Given the description of an element on the screen output the (x, y) to click on. 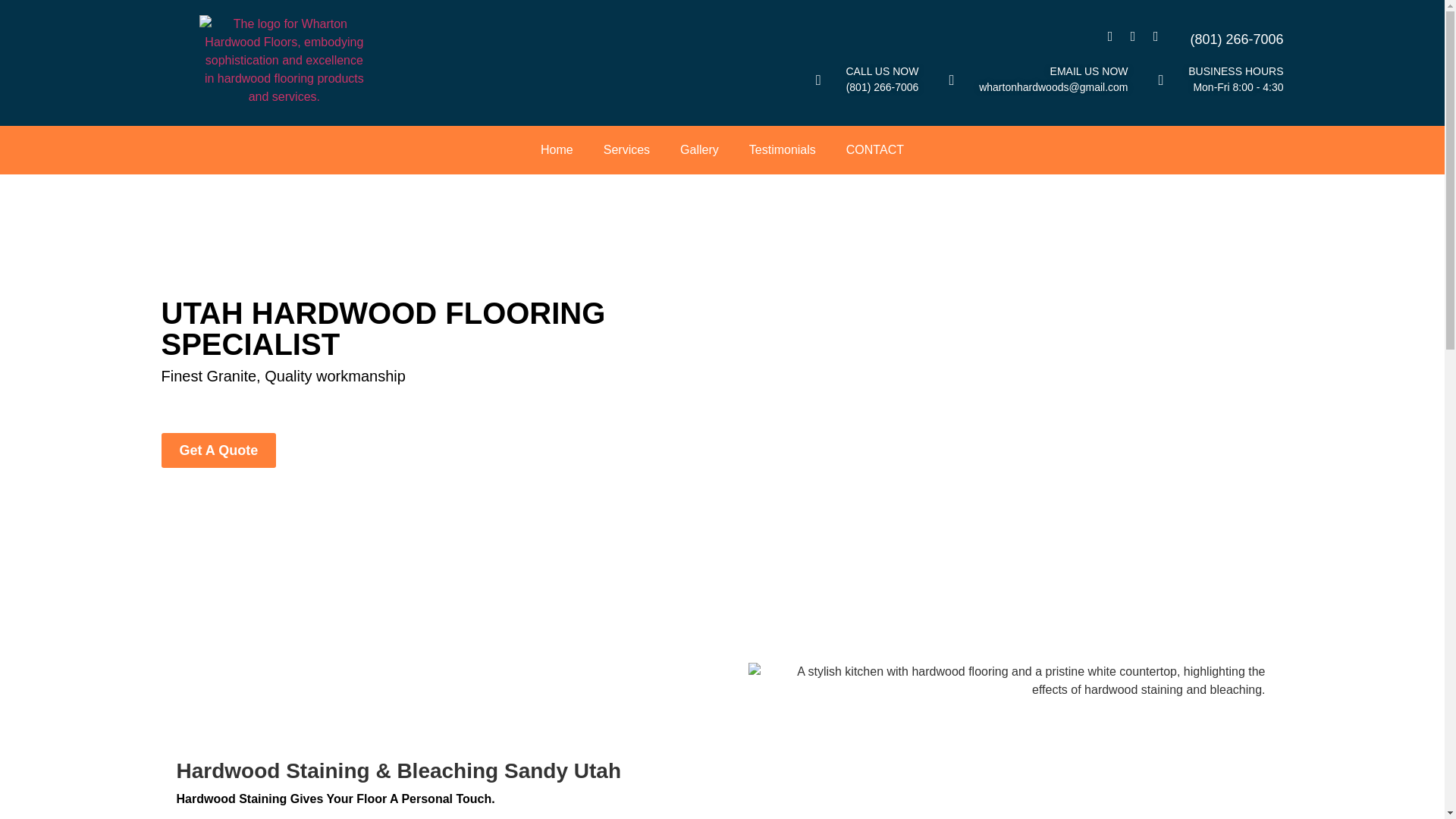
CONTACT (874, 150)
Services (626, 150)
Gallery (699, 150)
Testimonials (782, 150)
Get A Quote (218, 450)
Home (556, 150)
